Given the description of an element on the screen output the (x, y) to click on. 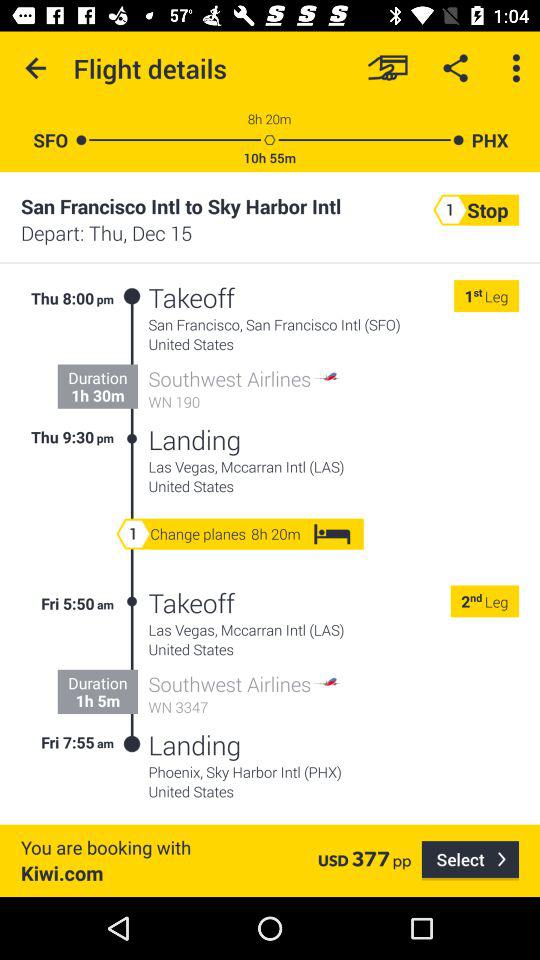
turn on the item to the right of the flight details icon (387, 67)
